Given the description of an element on the screen output the (x, y) to click on. 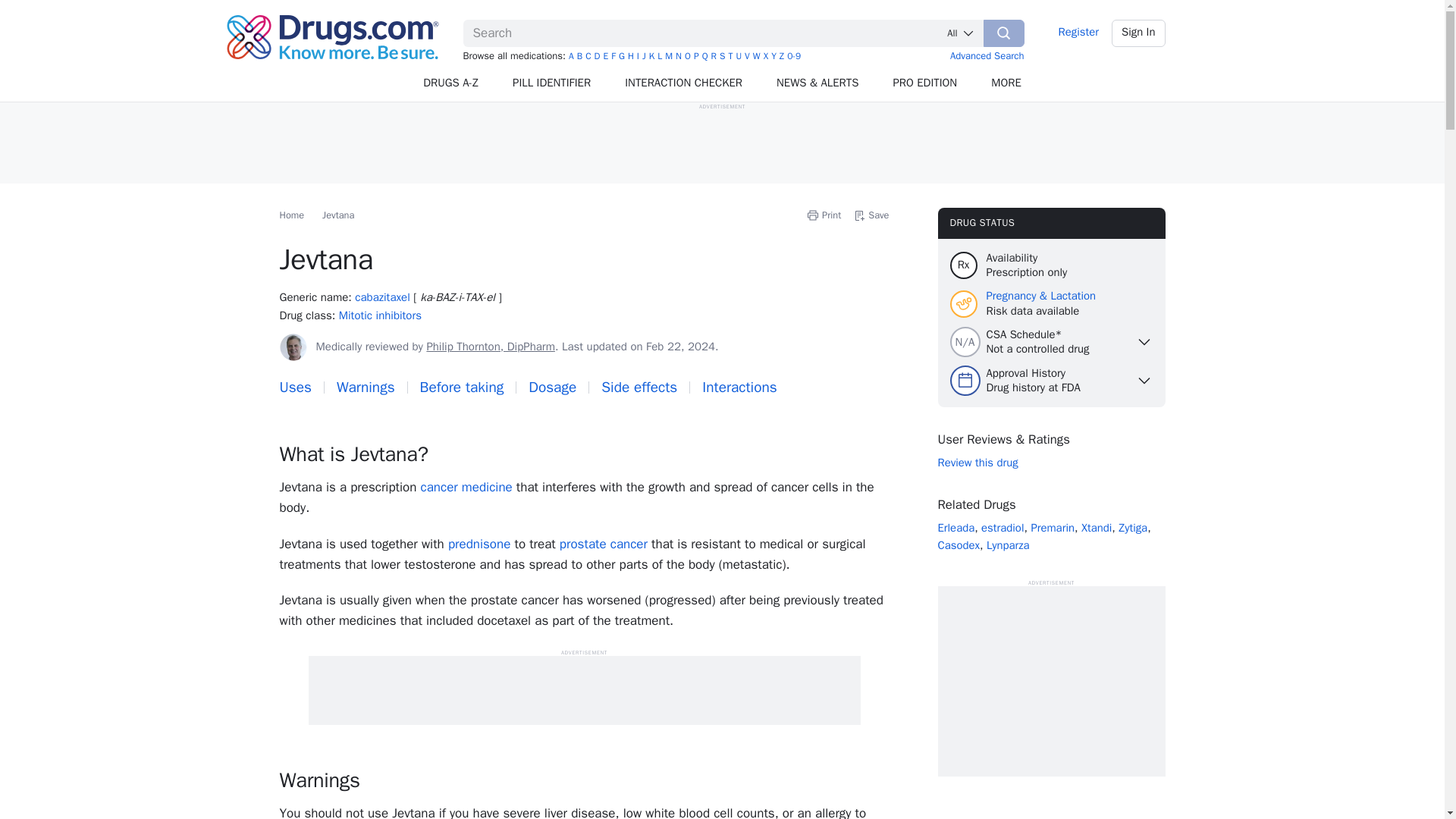
0-9 (793, 55)
DRUGS A-Z (450, 83)
Register (1078, 32)
Sign In (1139, 32)
Advanced Search (987, 55)
Search (1004, 32)
PILL IDENTIFIER (551, 83)
